Given the description of an element on the screen output the (x, y) to click on. 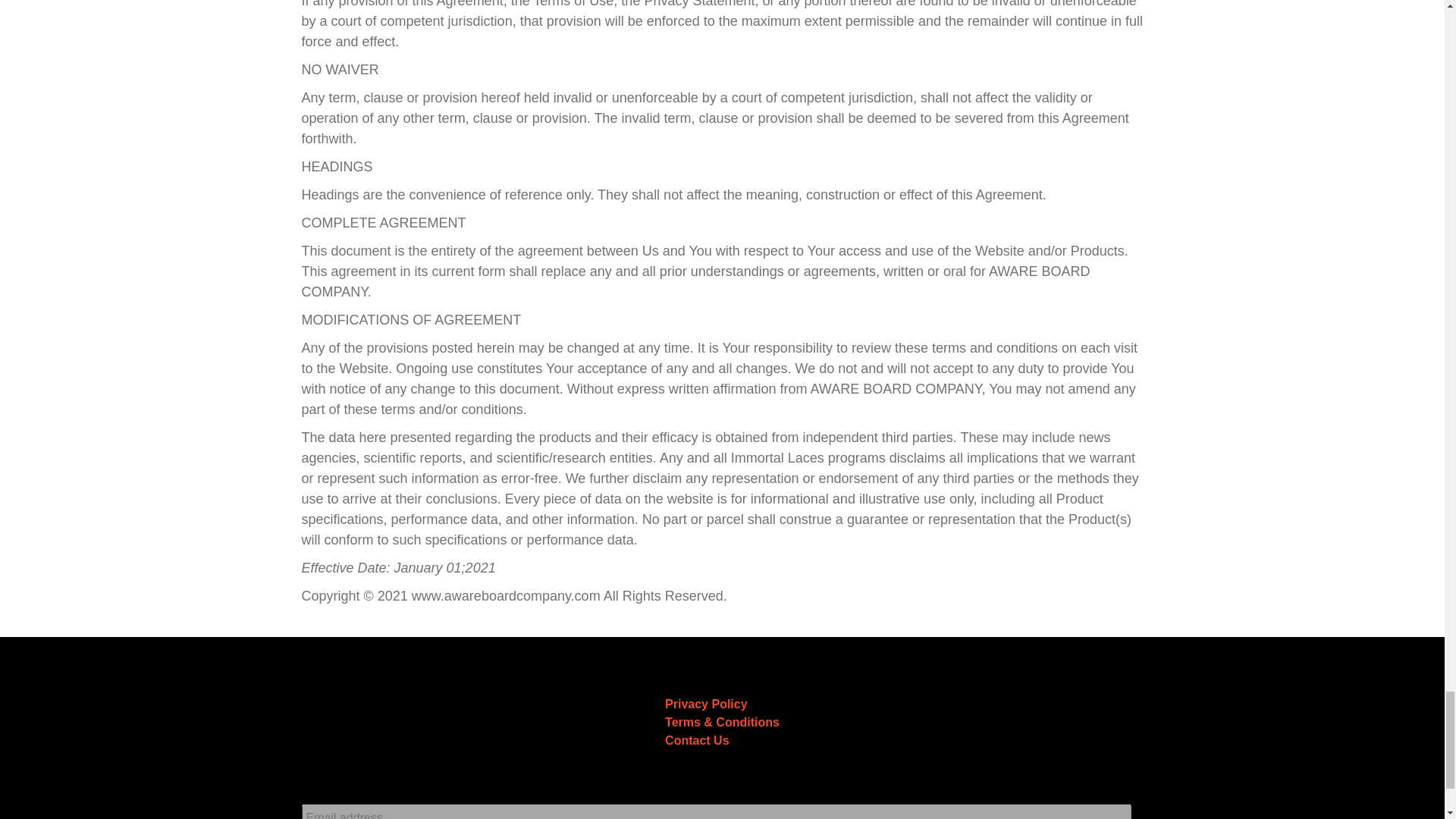
Privacy Policy (706, 703)
Contact Us (697, 739)
